Given the description of an element on the screen output the (x, y) to click on. 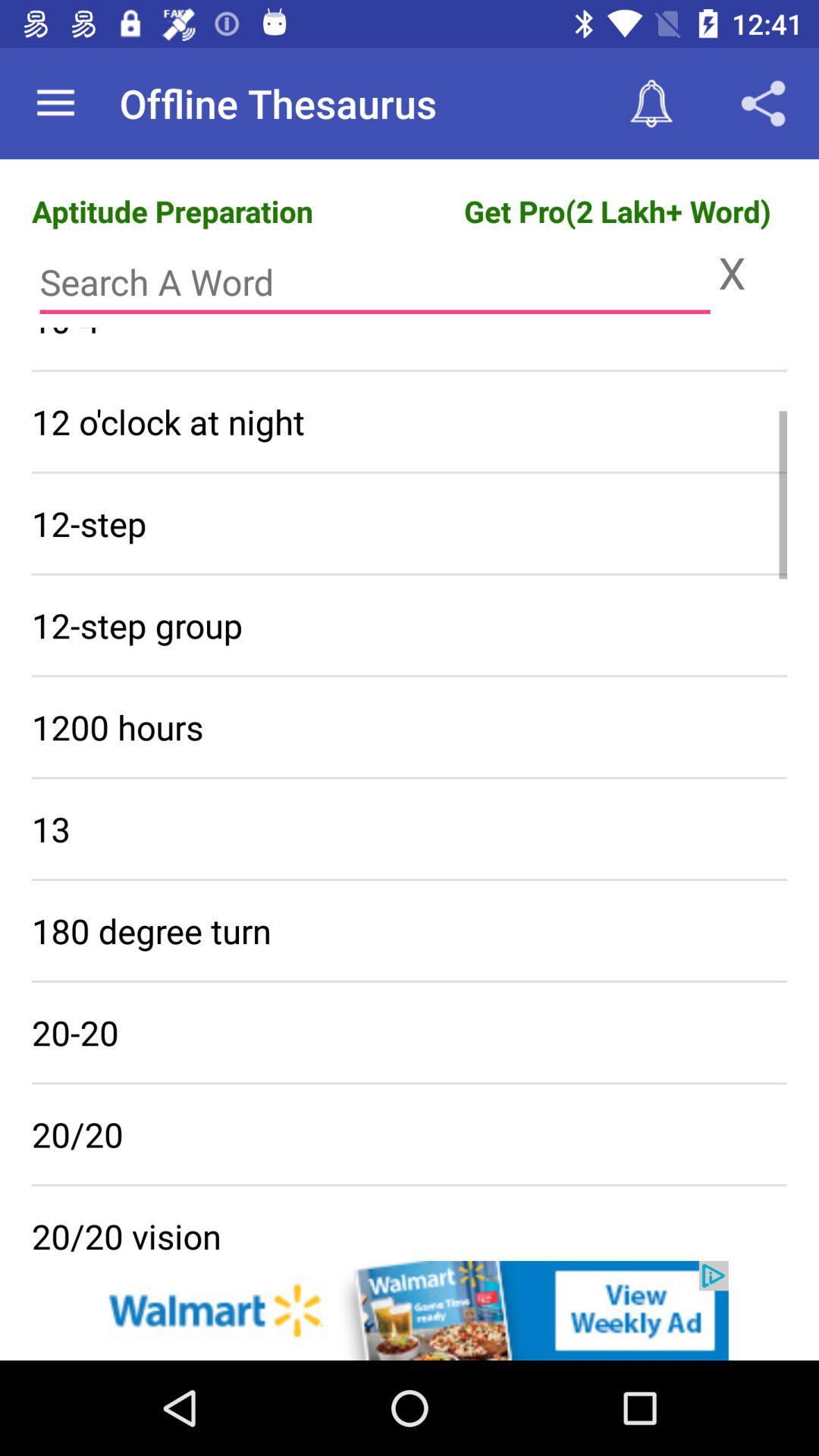
click on the advertisement (409, 1310)
